Given the description of an element on the screen output the (x, y) to click on. 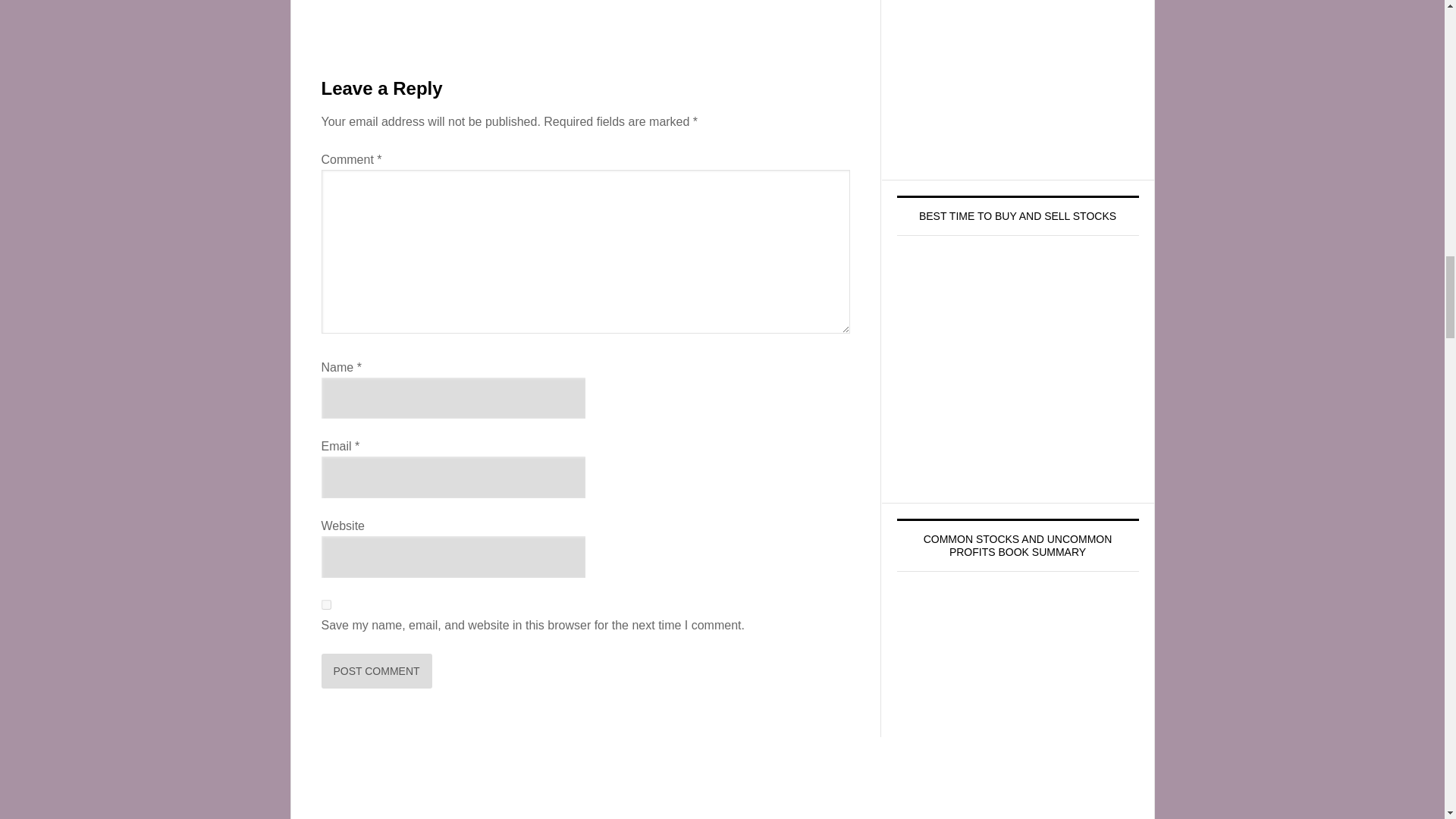
yes (326, 604)
Post Comment (376, 670)
Post Comment (376, 670)
